Given the description of an element on the screen output the (x, y) to click on. 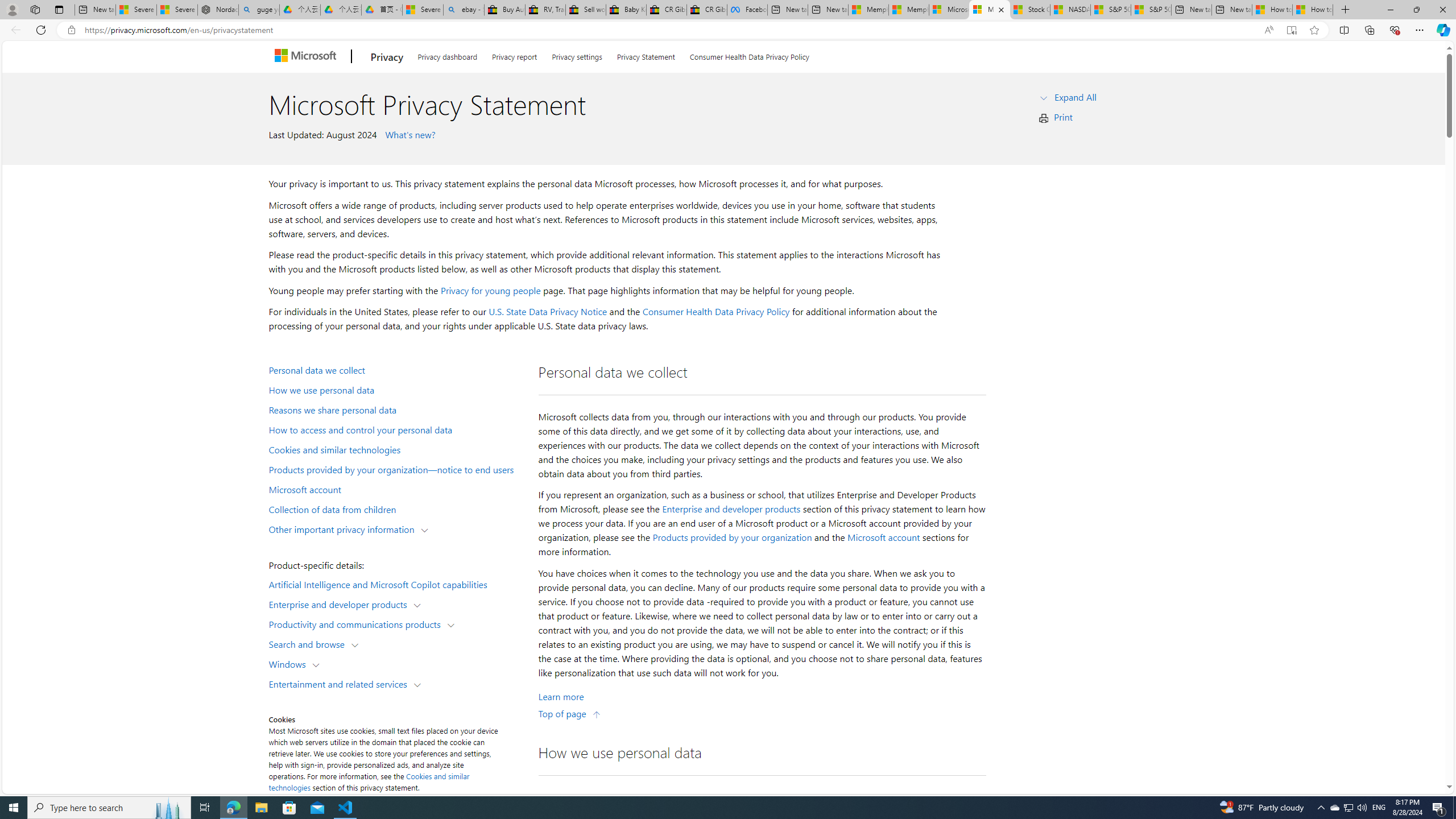
Consumer Health Data Privacy Policy (716, 311)
Privacy report (514, 54)
Privacy dashboard (447, 54)
Reasons we share personal data (395, 409)
Microsoft account (395, 488)
Enterprise and developer products (731, 508)
Products provided by your organization (732, 537)
Artificial Intelligence and Microsoft Copilot capabilities (395, 583)
Windows (289, 663)
Enterprise and developer products (340, 603)
